Given the description of an element on the screen output the (x, y) to click on. 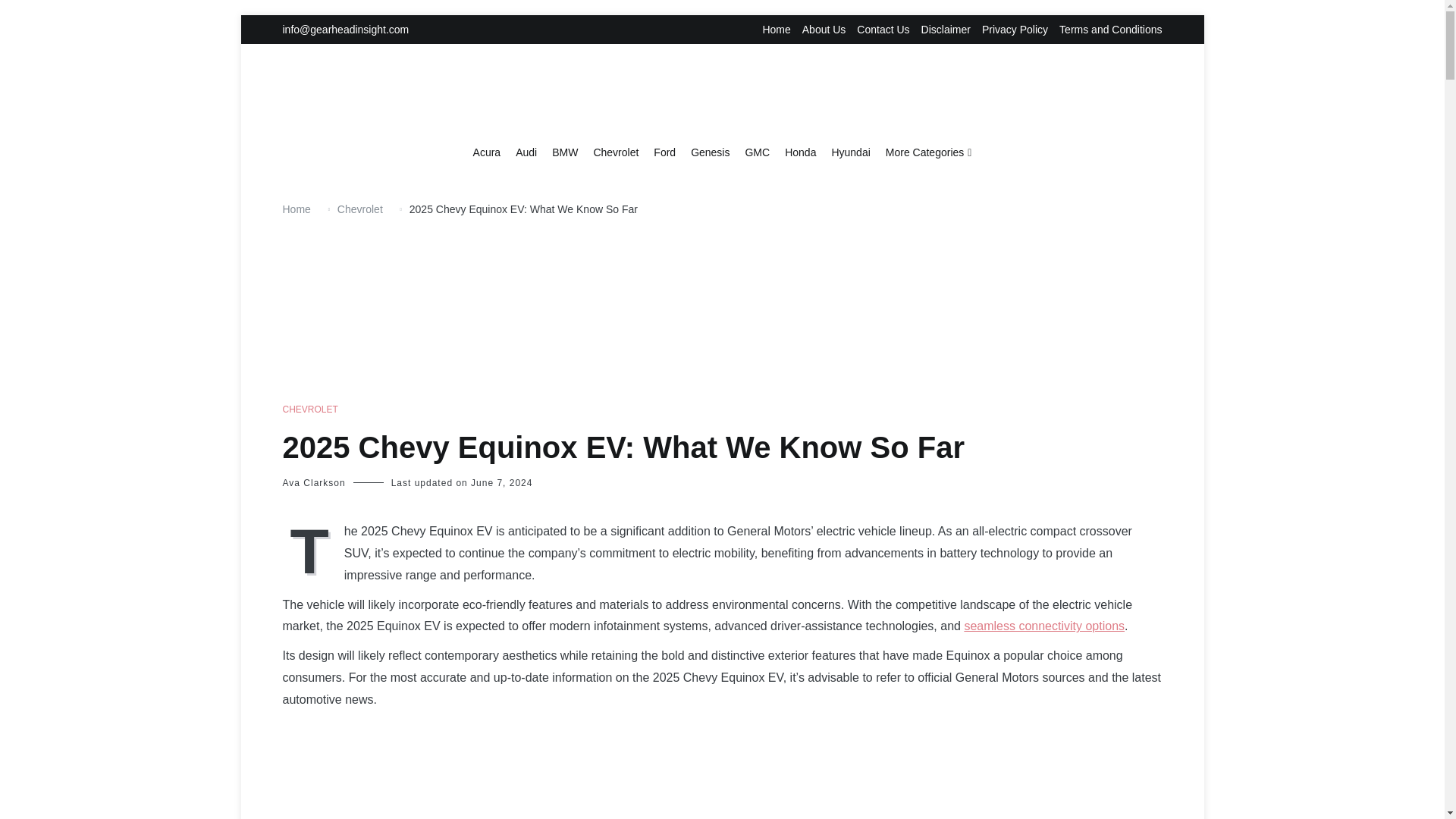
Home (775, 29)
T (312, 549)
Hyundai (850, 153)
Genesis (709, 153)
Gearhead Insight: Latest Auto Reviews and Industry Updates (839, 169)
Chevrolet (615, 153)
Privacy Policy (1014, 29)
About Us (823, 29)
Contact Us (882, 29)
